Given the description of an element on the screen output the (x, y) to click on. 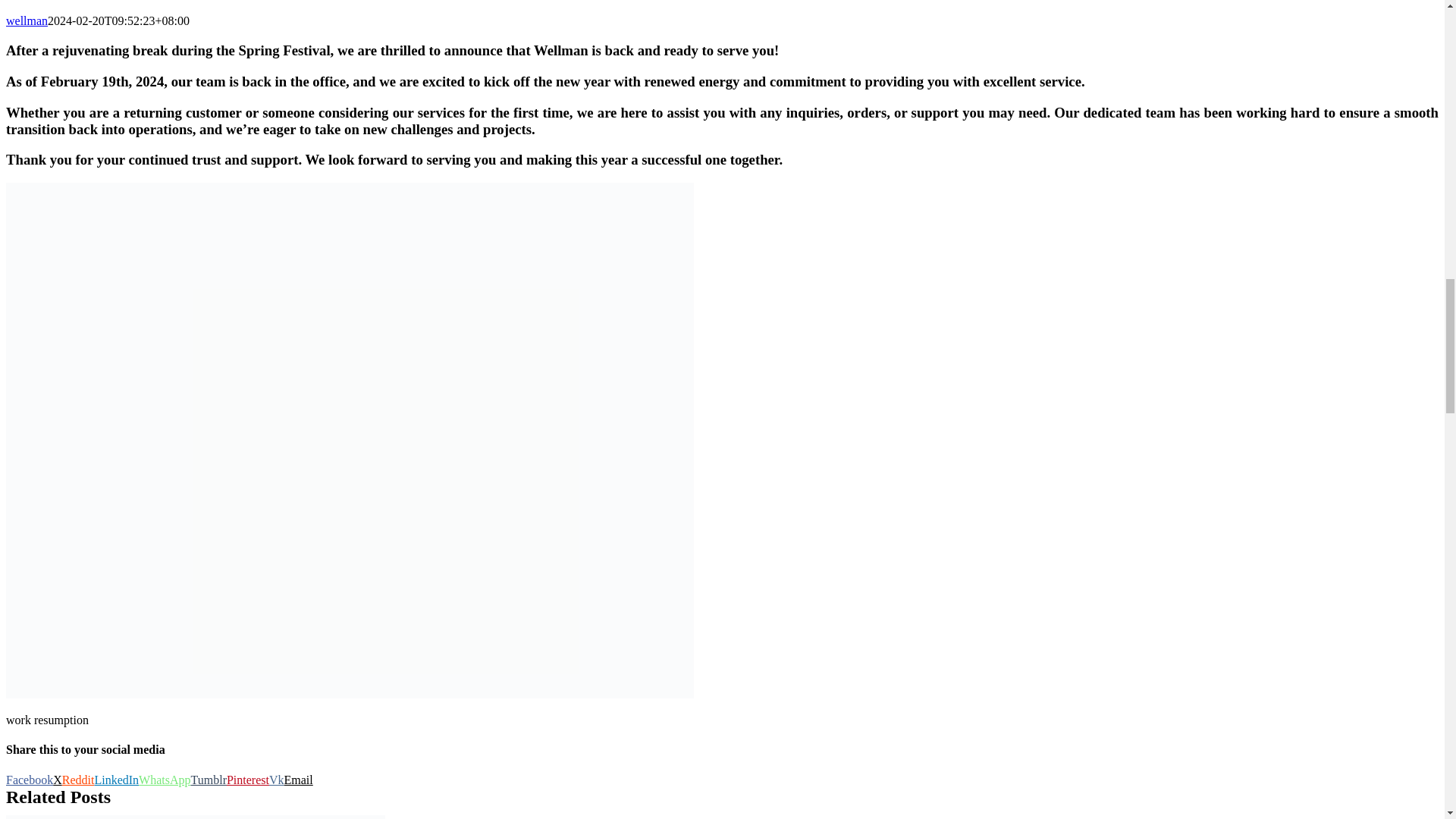
LinkedIn (116, 779)
Reddit (78, 779)
Pinterest (248, 779)
WhatsApp (164, 779)
Facebook (28, 779)
Tumblr (208, 779)
Email (298, 779)
Vk (276, 779)
Posts by wellman (26, 20)
X (57, 779)
